Given the description of an element on the screen output the (x, y) to click on. 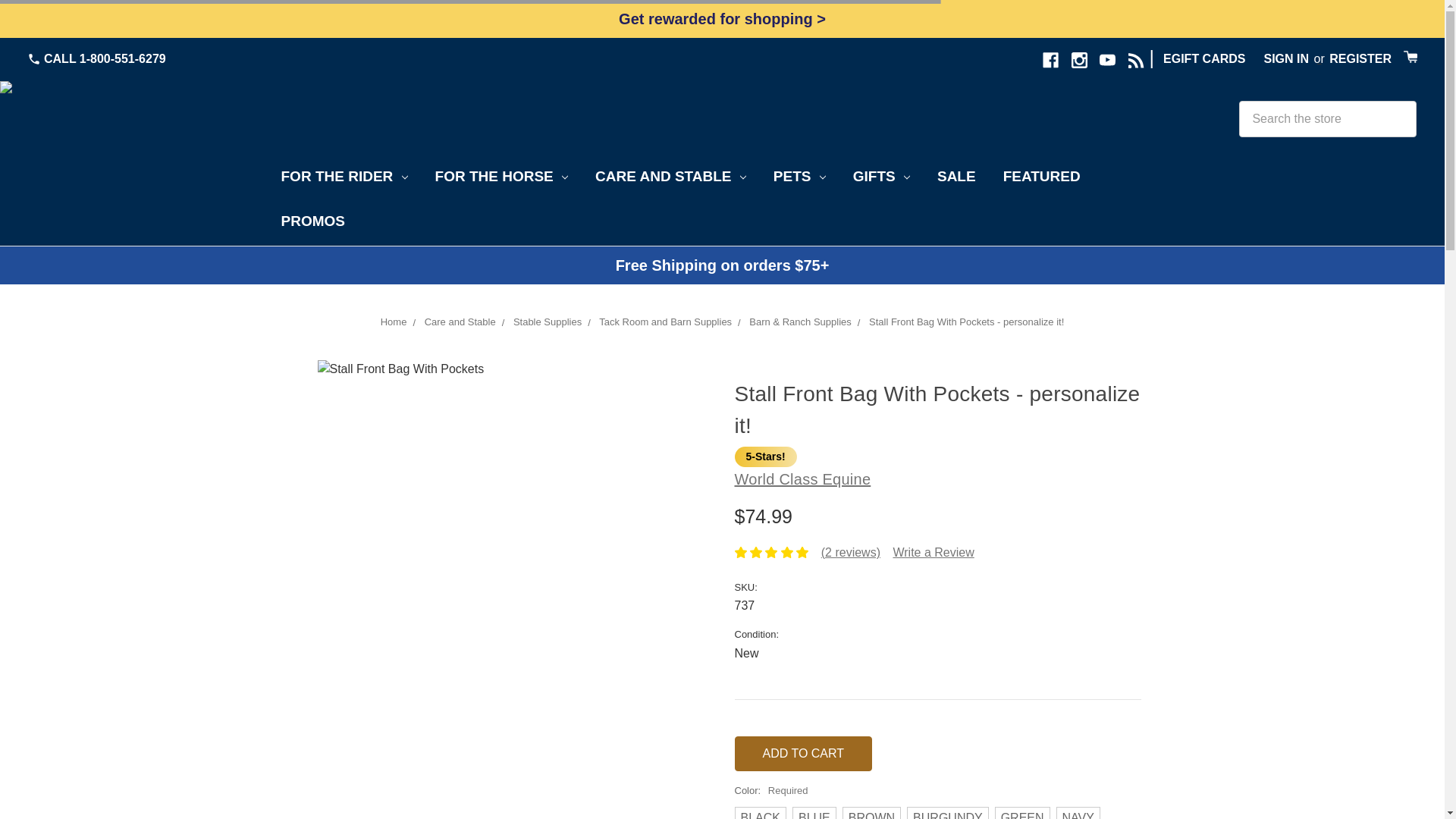
EGIFT CARDS (1203, 58)
FOR THE RIDER (343, 179)
SIGN IN or REGISTER (1323, 58)
Add to Cart (802, 753)
CALL 1-800-551-6279 (95, 58)
